Given the description of an element on the screen output the (x, y) to click on. 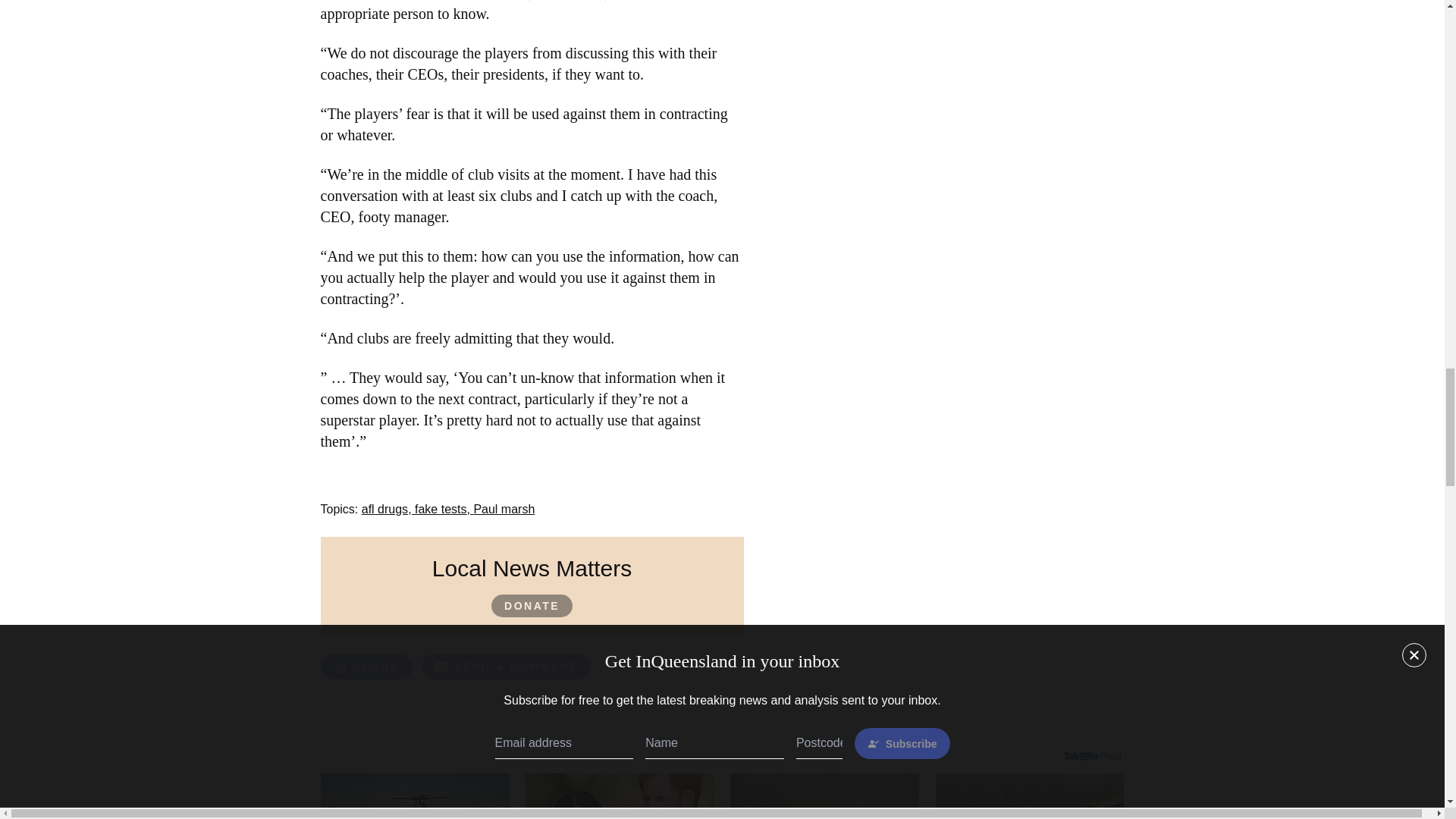
SEND A COMMENT (506, 666)
afl drugs, (387, 508)
DONATE (532, 605)
fake tests, (443, 508)
FOLLOW (651, 666)
SEND A COMMENT (506, 668)
SHARE (366, 666)
Paul marsh (503, 508)
If you own a mouse, play it for 1 minute. (414, 796)
